Given the description of an element on the screen output the (x, y) to click on. 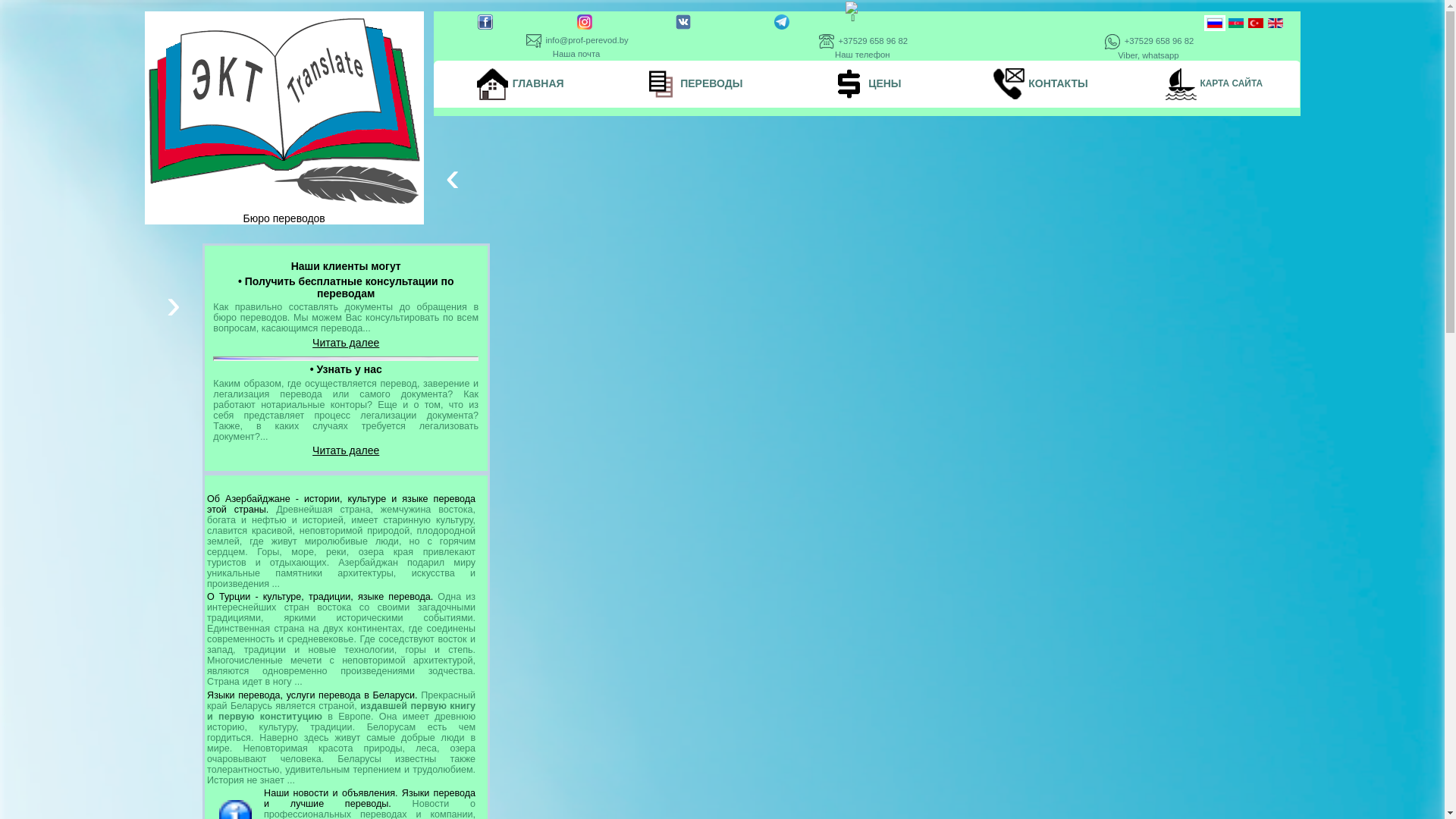
English (UK) Element type: hover (1275, 22)
